Given the description of an element on the screen output the (x, y) to click on. 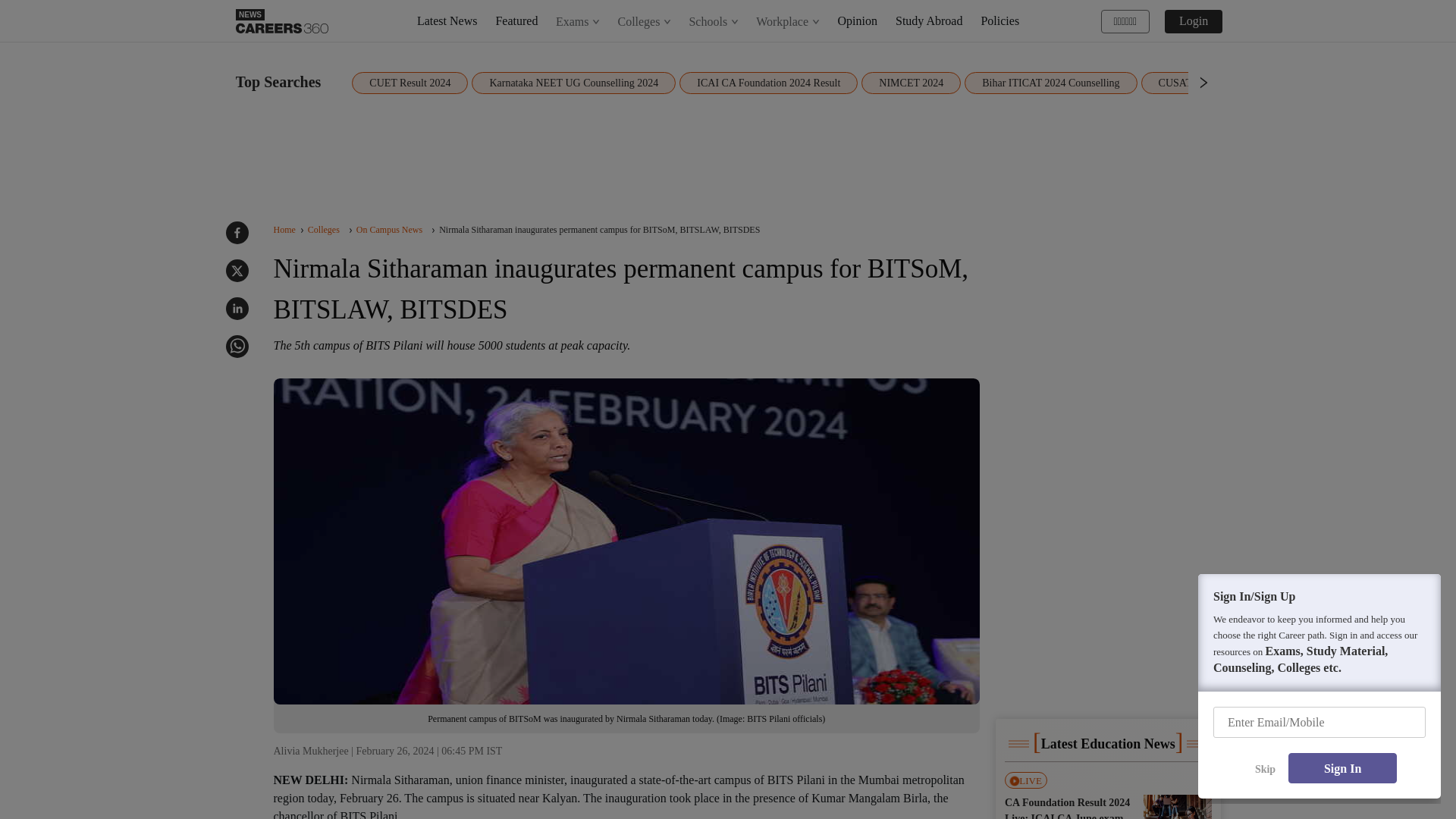
Study Abroad (928, 20)
Colleges (644, 21)
Latest News (446, 20)
CUET Result 2024 (409, 83)
Workplace (788, 20)
3rd party ad content (727, 151)
Opinion (857, 20)
ICAI CA Foundation 2024 Result (768, 83)
Policies (999, 20)
Schools (713, 21)
Login (1193, 20)
Exams (577, 20)
Colleges (643, 20)
3rd party ad content (1107, 593)
Exams (577, 21)
